Given the description of an element on the screen output the (x, y) to click on. 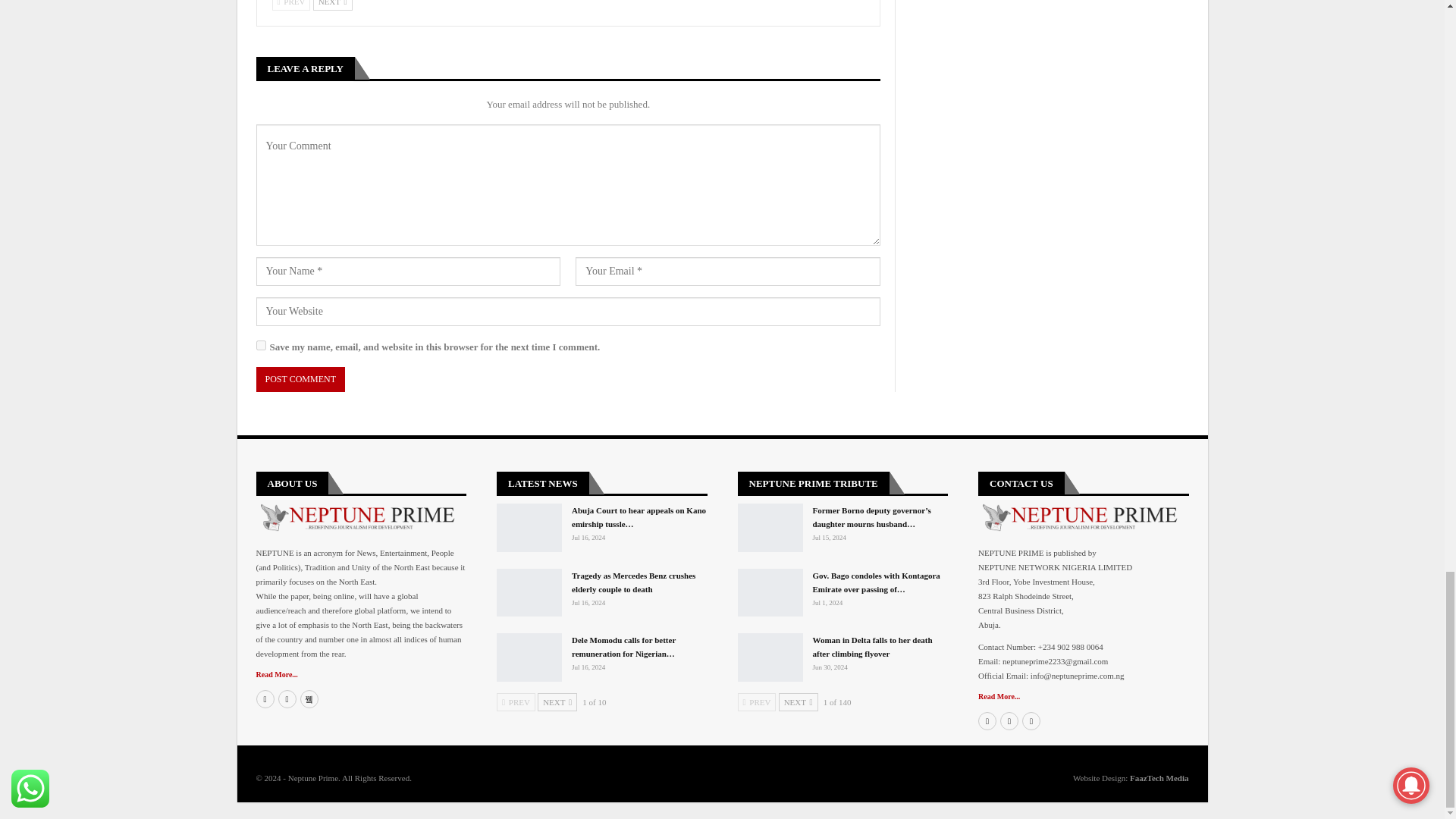
yes (261, 345)
Post Comment (300, 379)
